Given the description of an element on the screen output the (x, y) to click on. 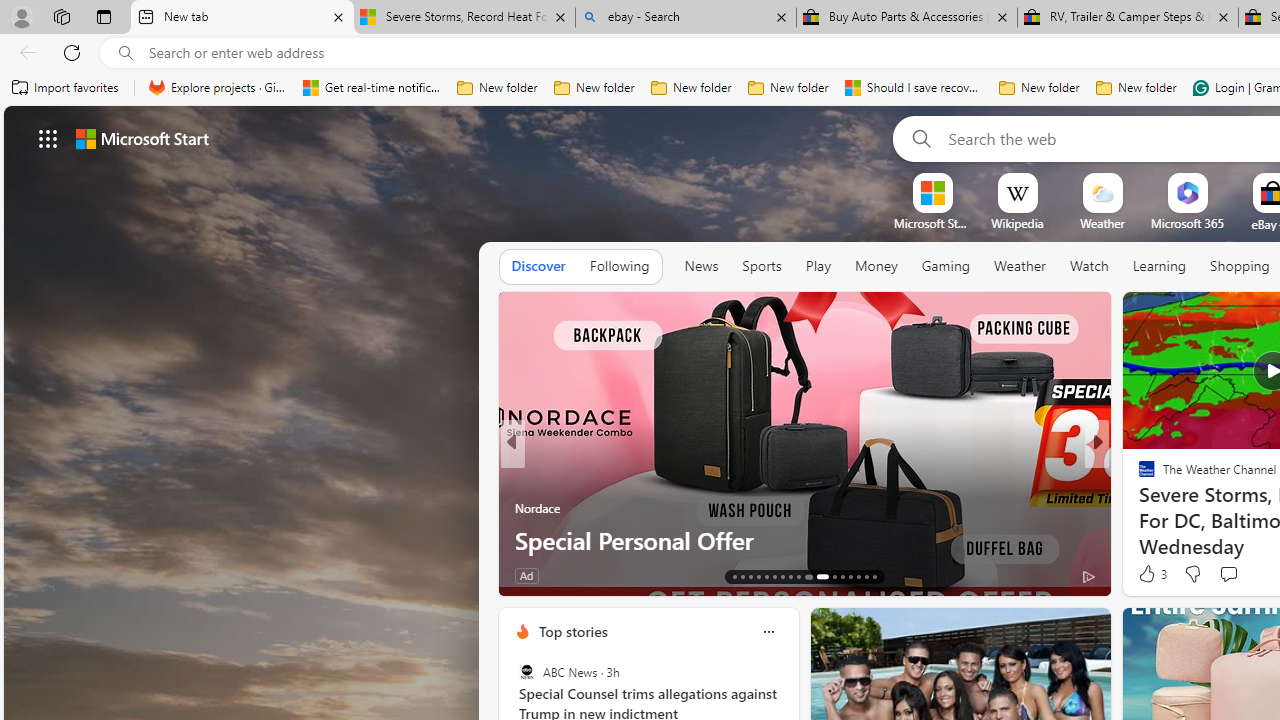
More Options (1219, 179)
Search icon (125, 53)
Dislike (1191, 574)
Tab actions menu (104, 16)
Ad Choice (1087, 575)
AutomationID: tab-17 (765, 576)
Weather (1020, 265)
AutomationID: tab-13 (733, 576)
NBC News (1138, 475)
RV, Trailer & Camper Steps & Ladders for sale | eBay (1127, 17)
View comments 96 Comment (11, 575)
Wikipedia (1017, 223)
Should I save recovered Word documents? - Microsoft Support (913, 88)
Back (24, 52)
